Given the description of an element on the screen output the (x, y) to click on. 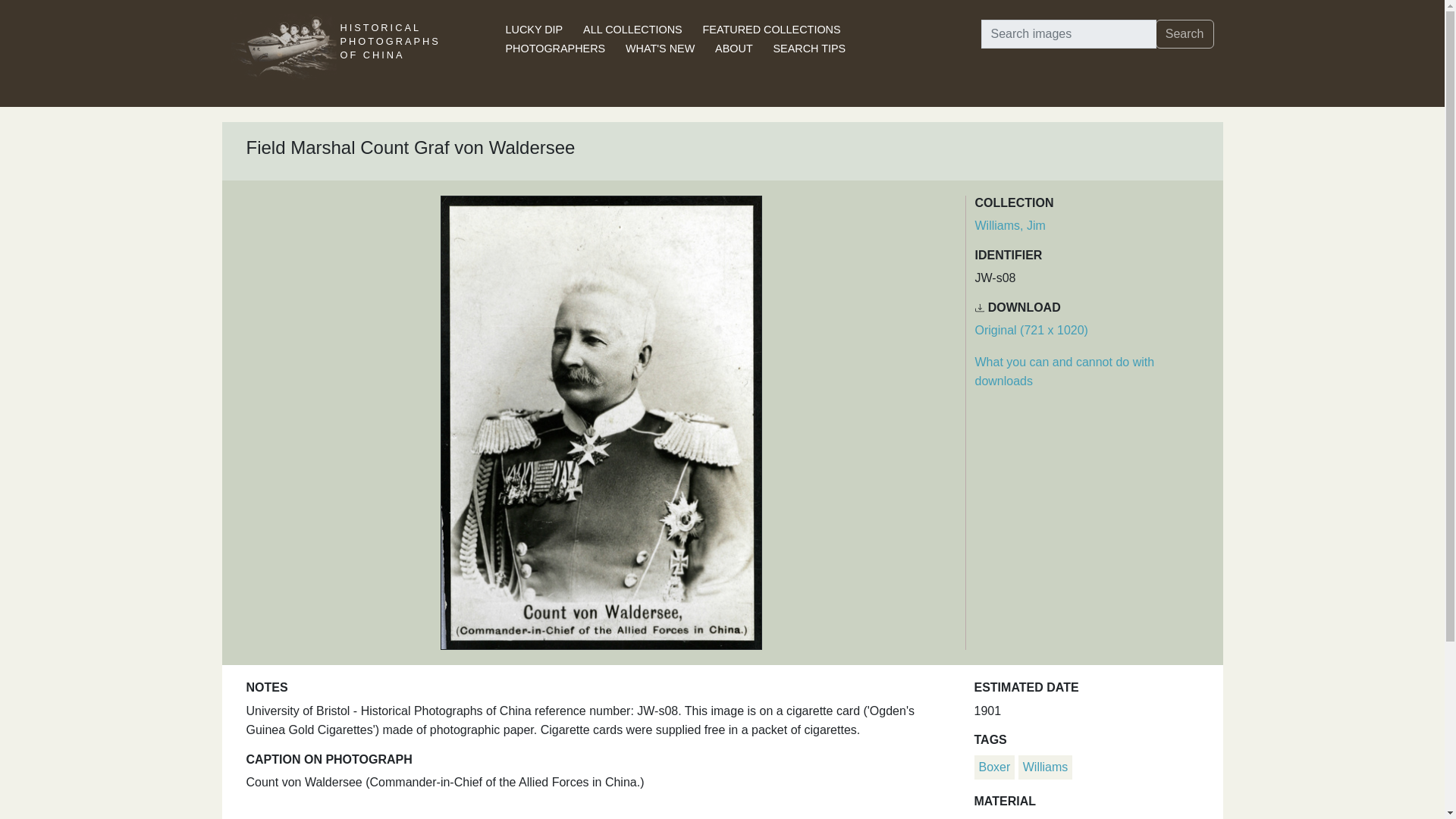
LUCKY DIP (533, 29)
Boxer (994, 766)
PHOTOGRAPHERS (555, 48)
ALL COLLECTIONS (632, 29)
HISTORICAL PHOTOGRAPHS OF CHINA (389, 53)
What you can and cannot do with downloads (1064, 371)
Search (1185, 33)
Williams, Jim (1010, 225)
WHAT'S NEW (660, 48)
ABOUT (733, 48)
